Given the description of an element on the screen output the (x, y) to click on. 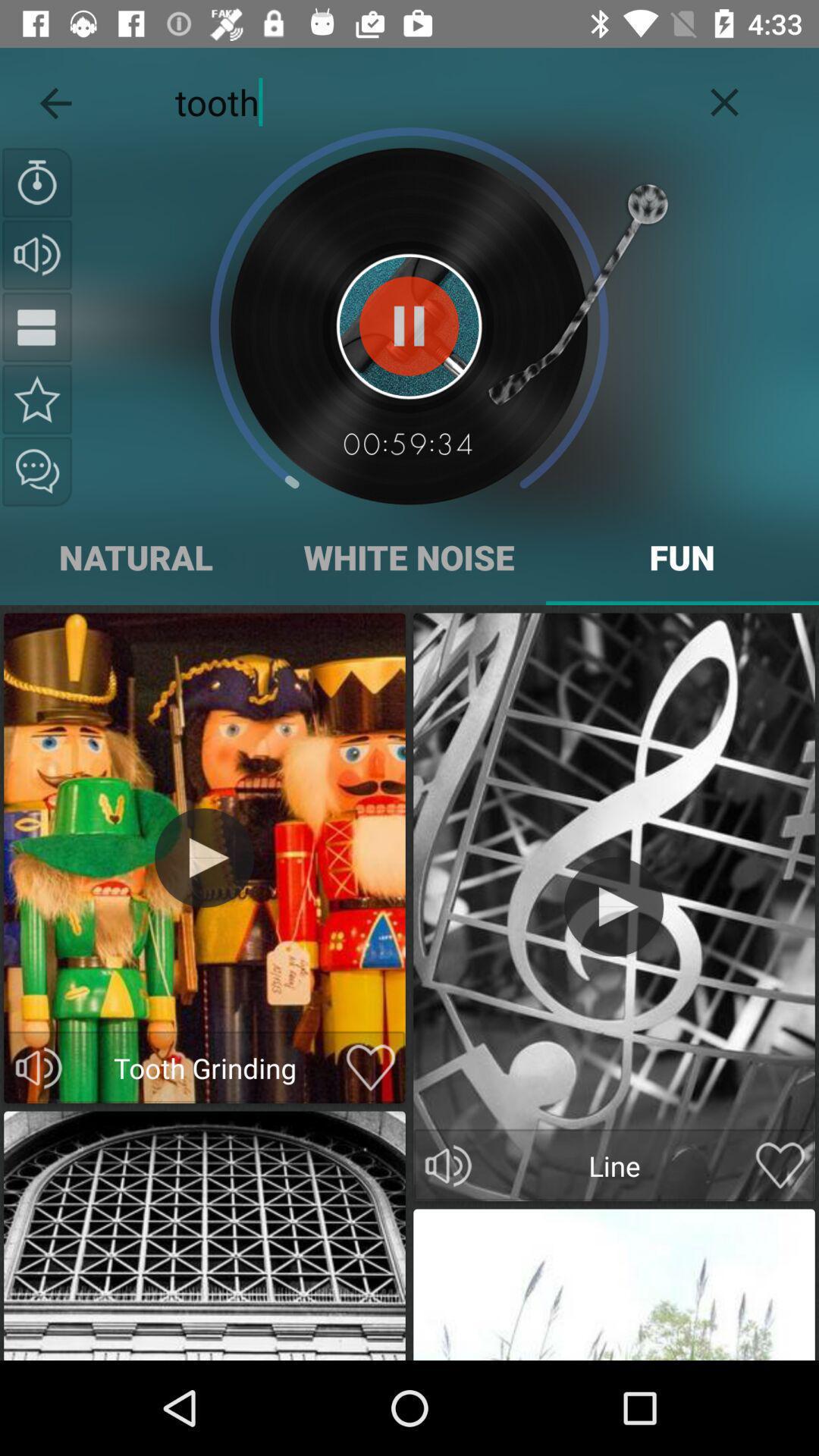
share the song (37, 471)
